Given the description of an element on the screen output the (x, y) to click on. 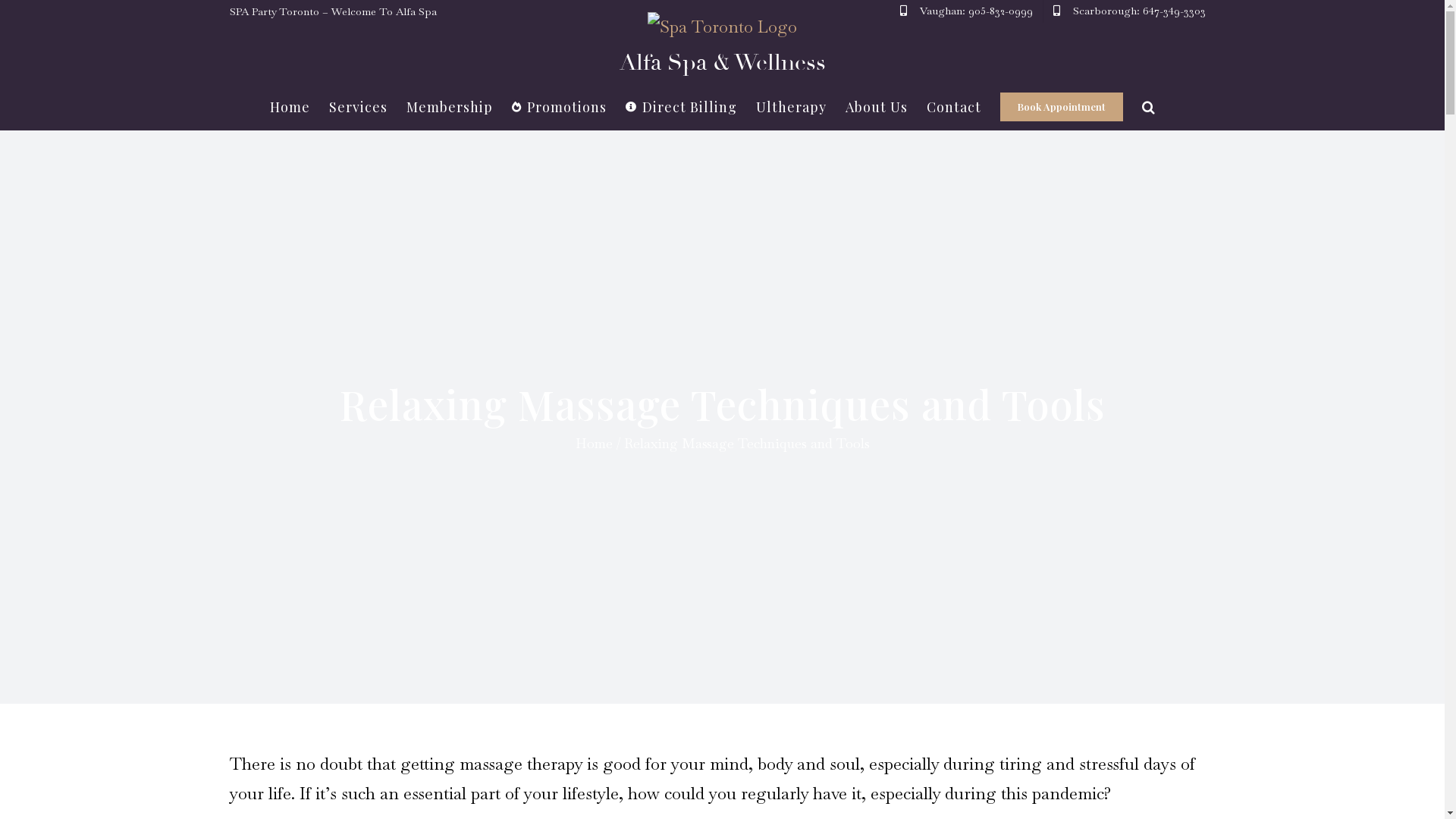
Contact Element type: text (953, 106)
Direct Billing Element type: text (681, 106)
Ultherapy Element type: text (791, 106)
Promotions Element type: text (558, 106)
Vaughan: 905-832-0999 Element type: text (966, 11)
Home Element type: text (289, 106)
Scarborough: 647-349-3303 Element type: text (1129, 11)
Home Element type: text (592, 442)
Book Appointment Element type: text (1061, 106)
Search Element type: hover (1148, 106)
About Us Element type: text (876, 106)
Membership Element type: text (449, 106)
Services Element type: text (358, 106)
Alfa Spa & Wellness Element type: text (721, 47)
